Given the description of an element on the screen output the (x, y) to click on. 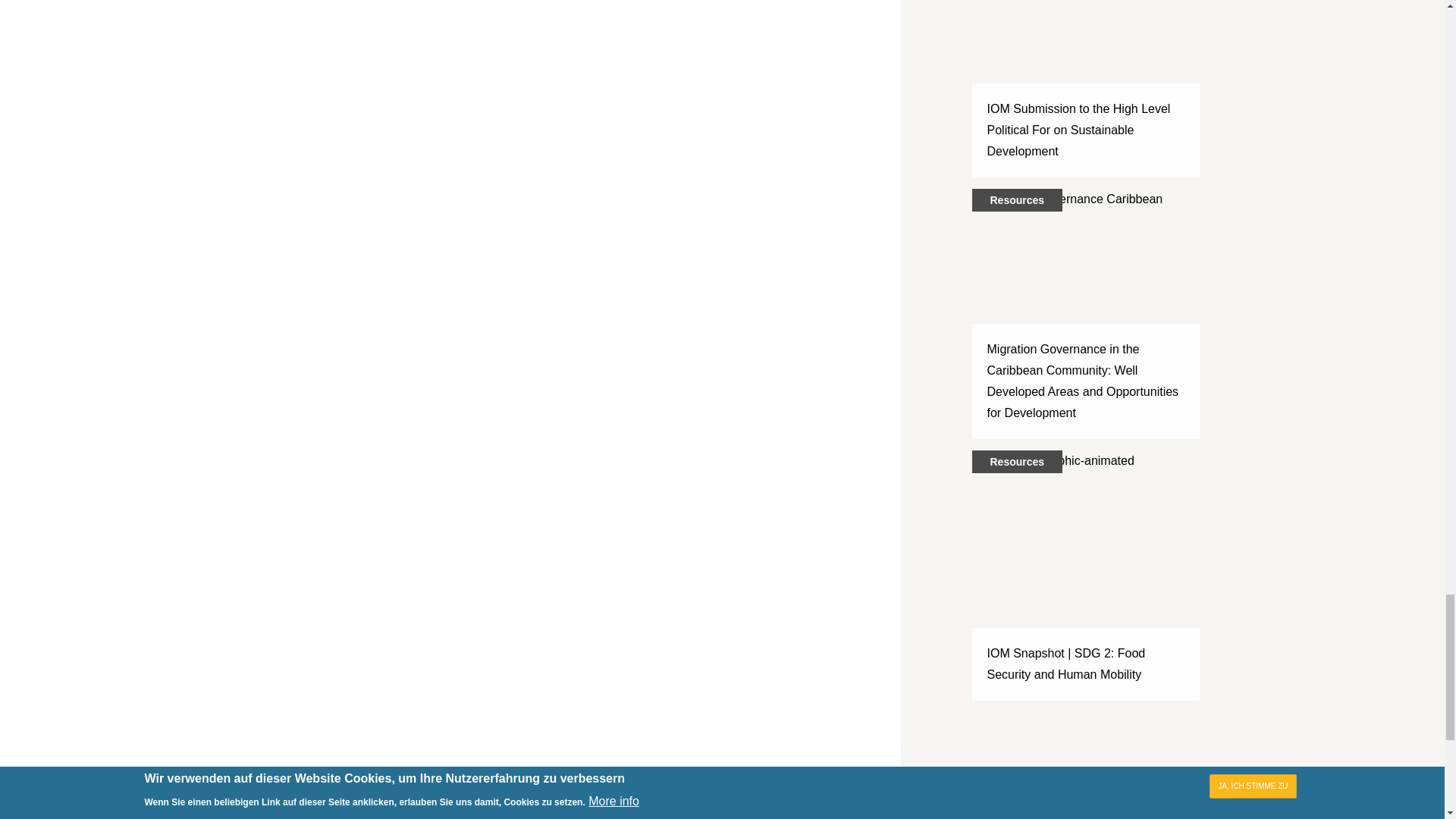
Migration Governance Caribbean (1085, 302)
IOM Submission to HLPF 2024 (1085, 77)
SDG2-infographic-animated (1085, 564)
